Given the description of an element on the screen output the (x, y) to click on. 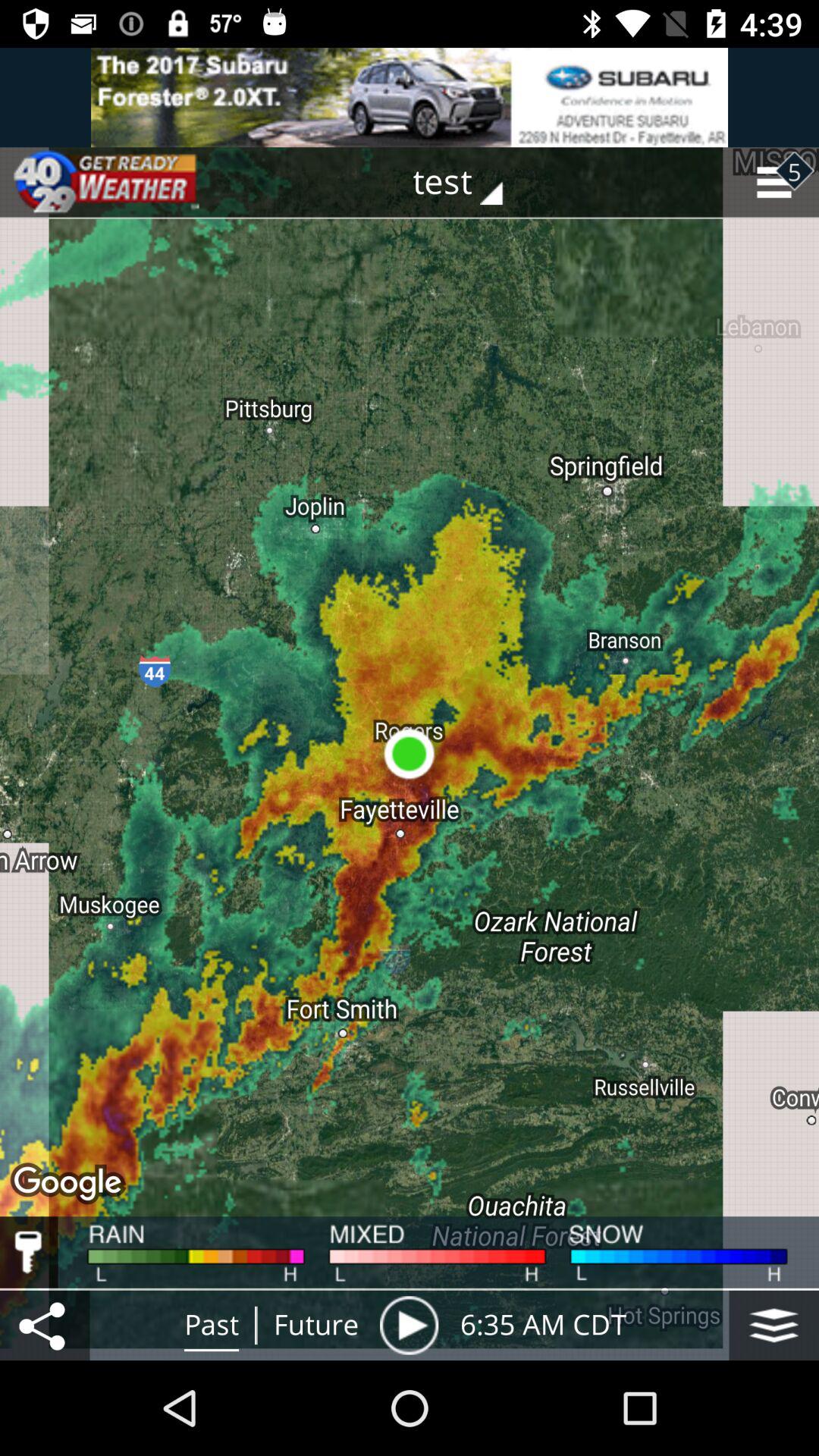
go do saer (44, 1325)
